Given the description of an element on the screen output the (x, y) to click on. 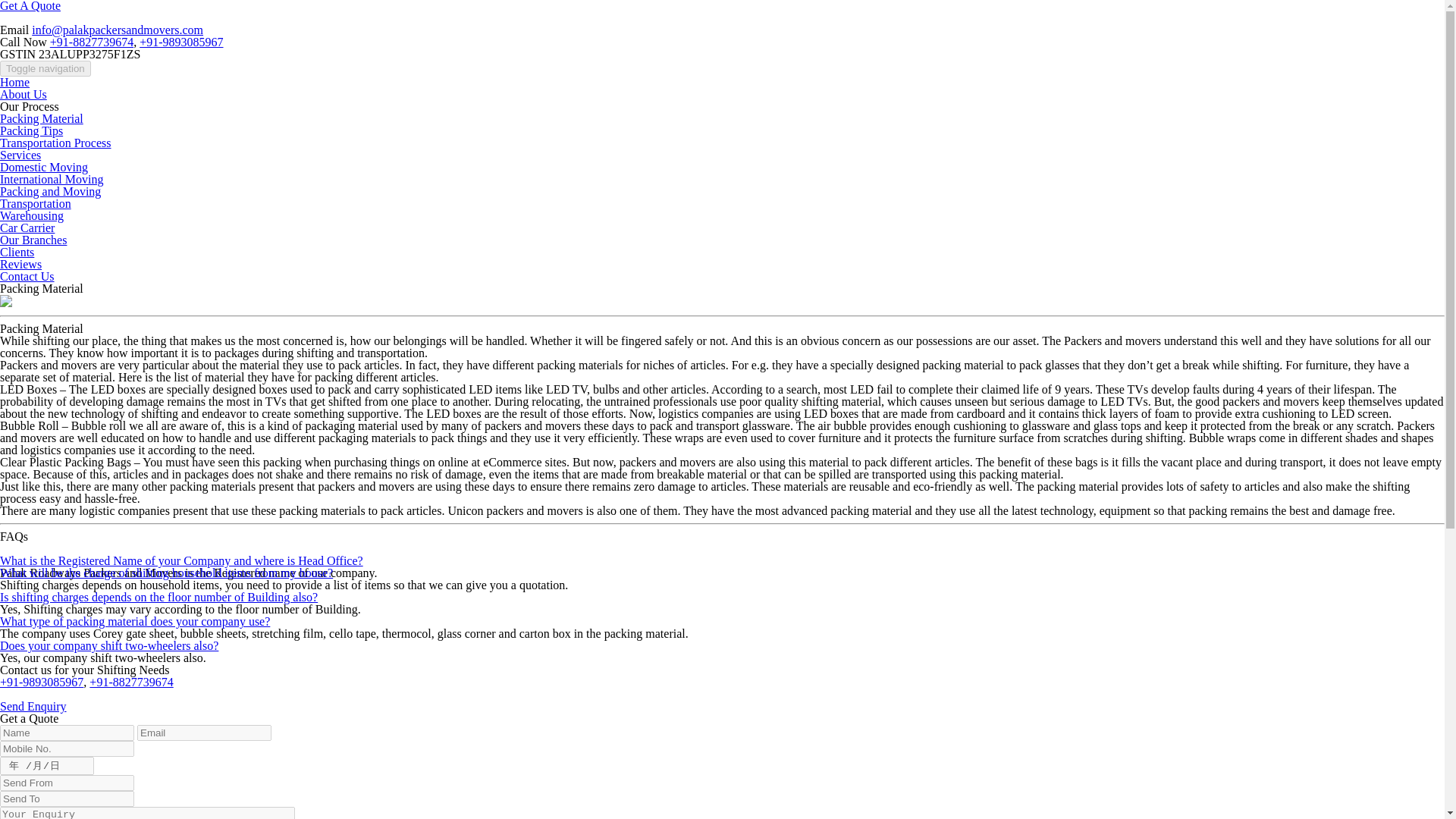
Contact Us (27, 276)
Car Carrier (27, 227)
Packing and Moving (50, 191)
Does your company shift two-wheelers also? (109, 645)
Domestic Moving (43, 166)
International Moving (51, 178)
Reviews (21, 264)
Transportation (35, 203)
Our Branches (33, 239)
